Given the description of an element on the screen output the (x, y) to click on. 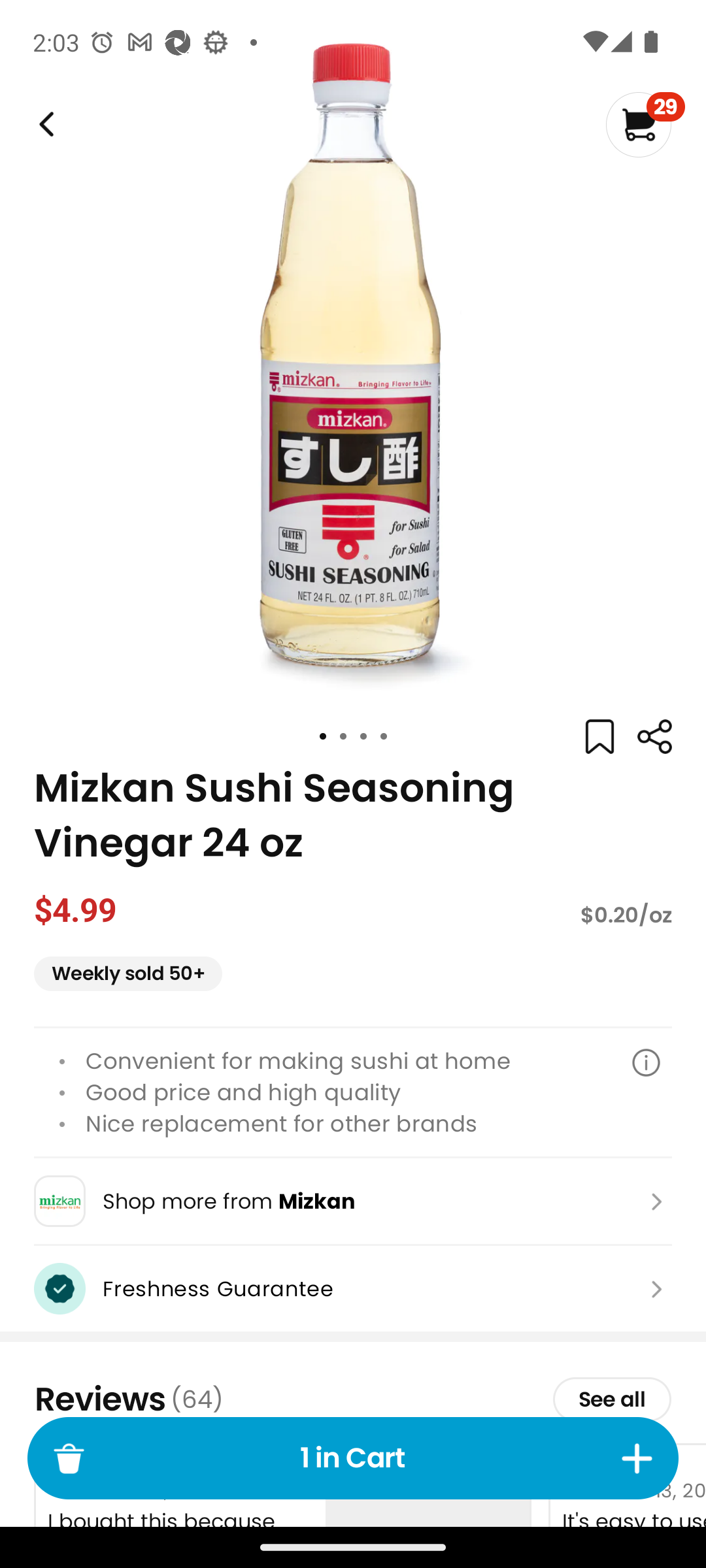
29 (644, 124)
Weee! (45, 124)
Weee! (653, 736)
Shop more from Mizkan Weee! (352, 1200)
Freshness Guarantee (352, 1288)
Reviews (64) See all (353, 1399)
1 in Cart (352, 1458)
